Given the description of an element on the screen output the (x, y) to click on. 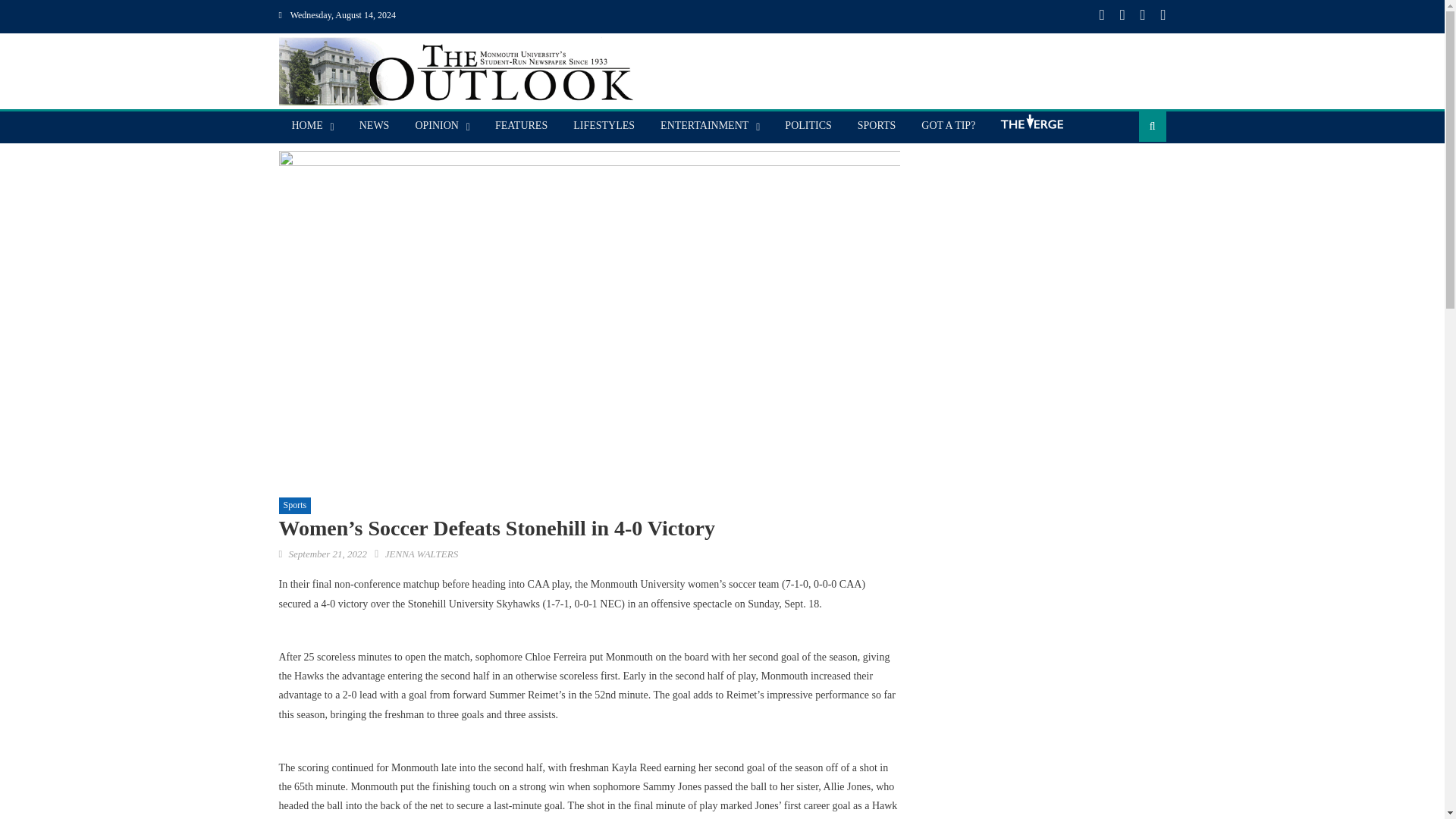
NEWS (374, 125)
Search (1128, 175)
THE VERGE (1030, 127)
Posts by JENNA WALTERS (421, 553)
POLITICS (808, 125)
FEATURES (521, 125)
GOT A TIP? (948, 125)
September 21, 2022 (327, 553)
SPORTS (876, 125)
JENNA WALTERS (421, 553)
